Given the description of an element on the screen output the (x, y) to click on. 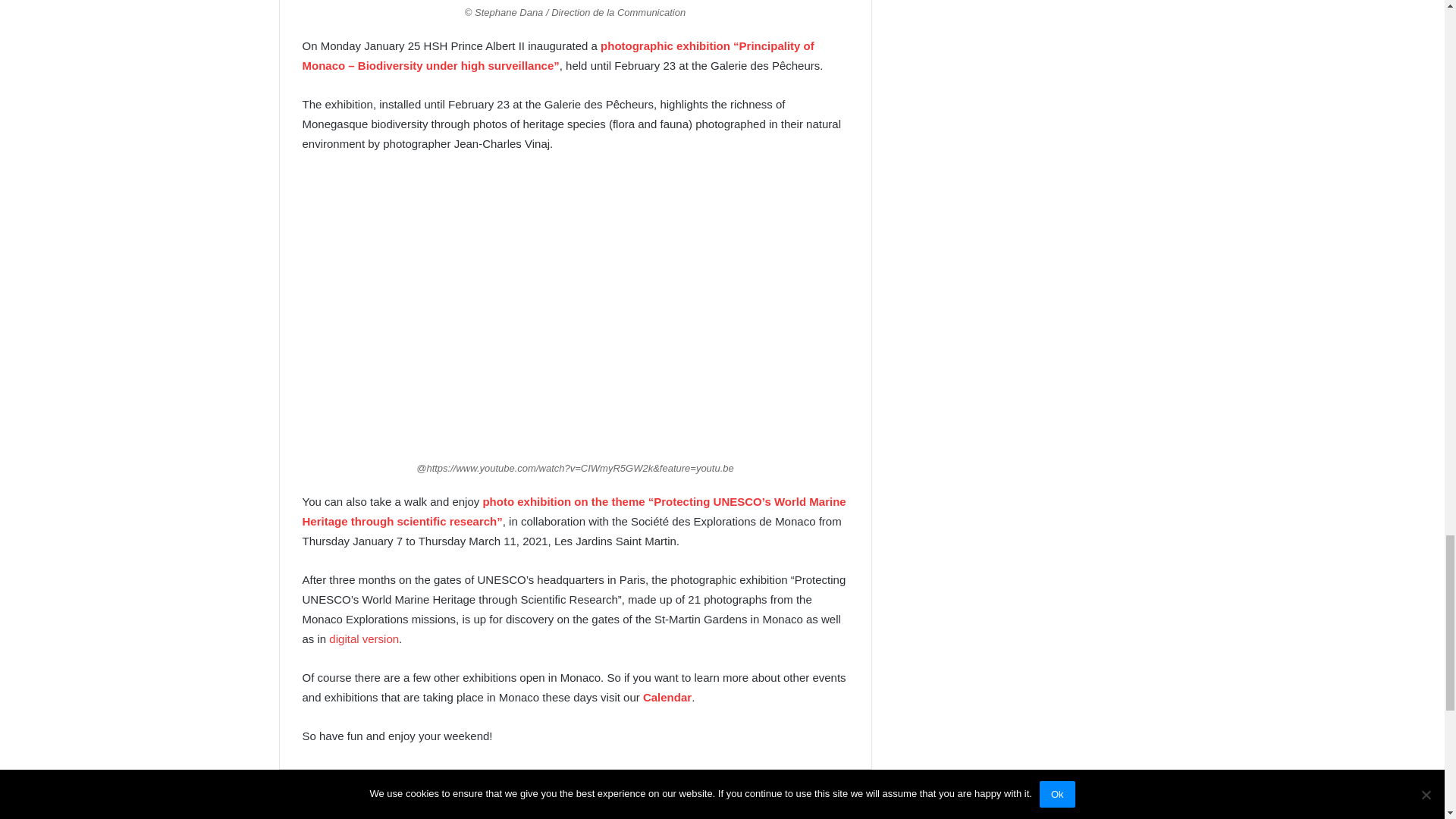
Facebook (352, 799)
Twitter (453, 799)
LinkedIn (518, 799)
Print (590, 799)
Share via Email (553, 799)
